Given the description of an element on the screen output the (x, y) to click on. 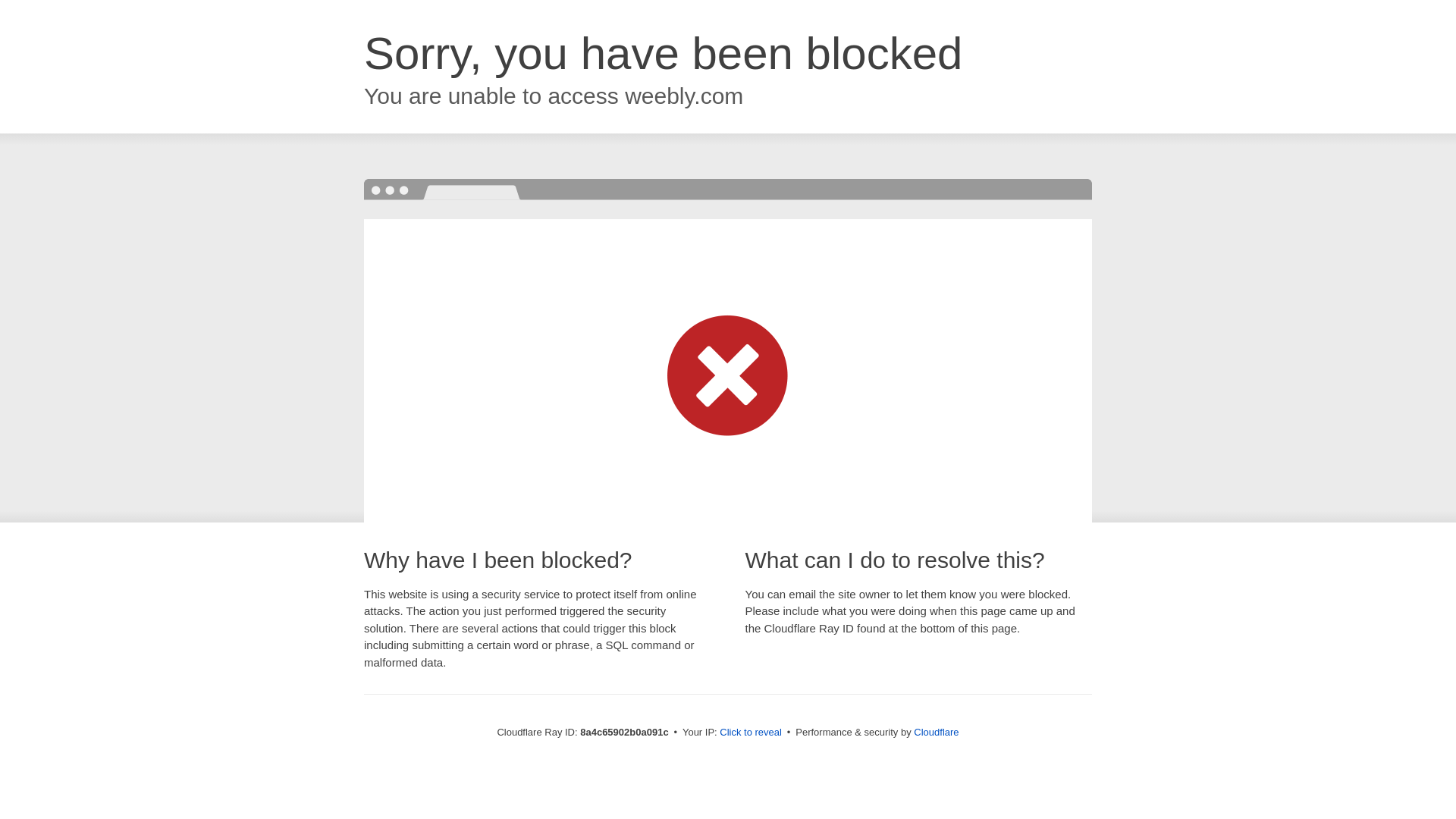
Click to reveal (750, 732)
Cloudflare (936, 731)
